Given the description of an element on the screen output the (x, y) to click on. 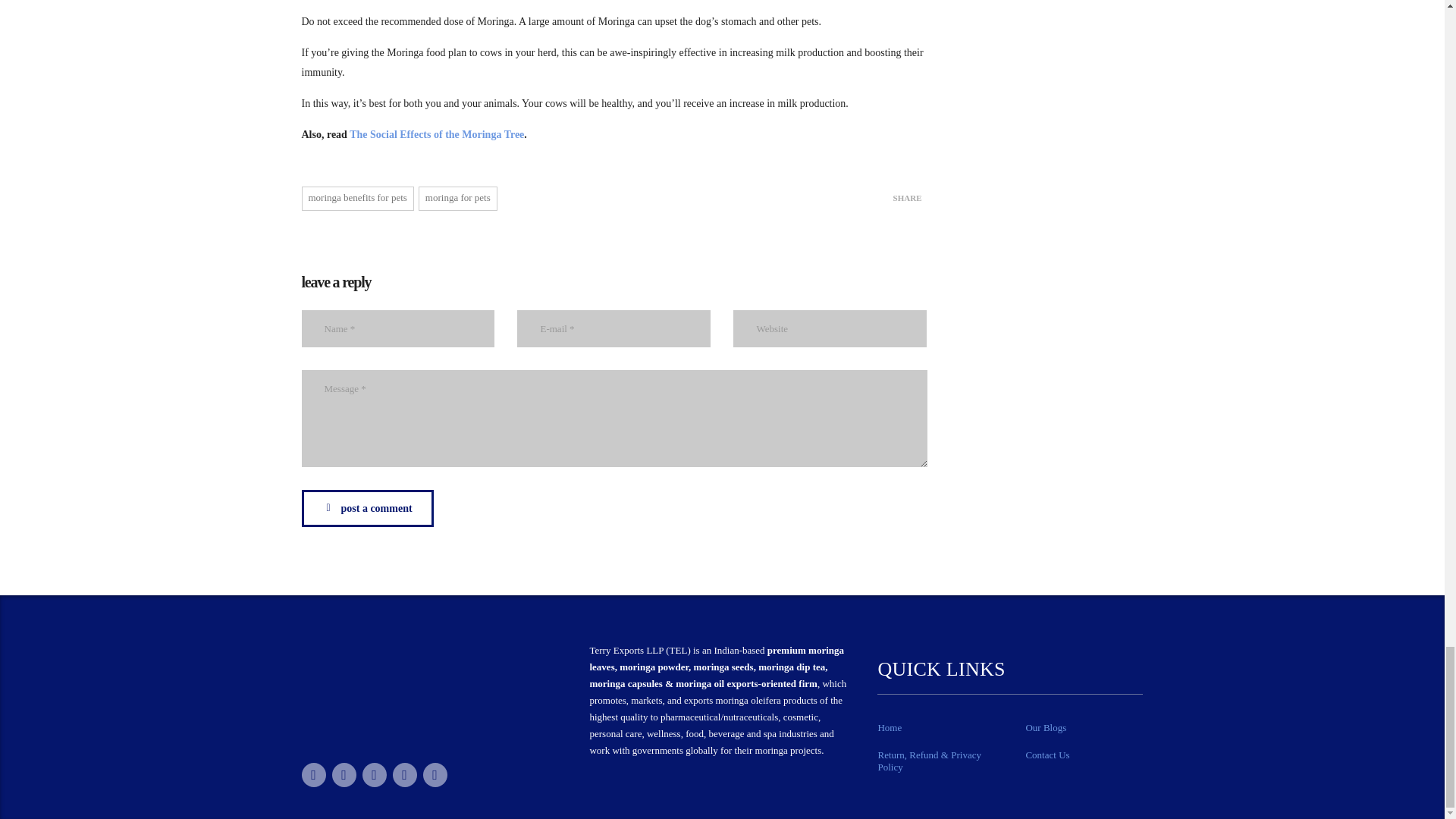
post a comment (367, 508)
The Social Effects of the Moringa Tree (436, 134)
moringa benefits for pets (357, 198)
moringa for pets (458, 198)
